Given the description of an element on the screen output the (x, y) to click on. 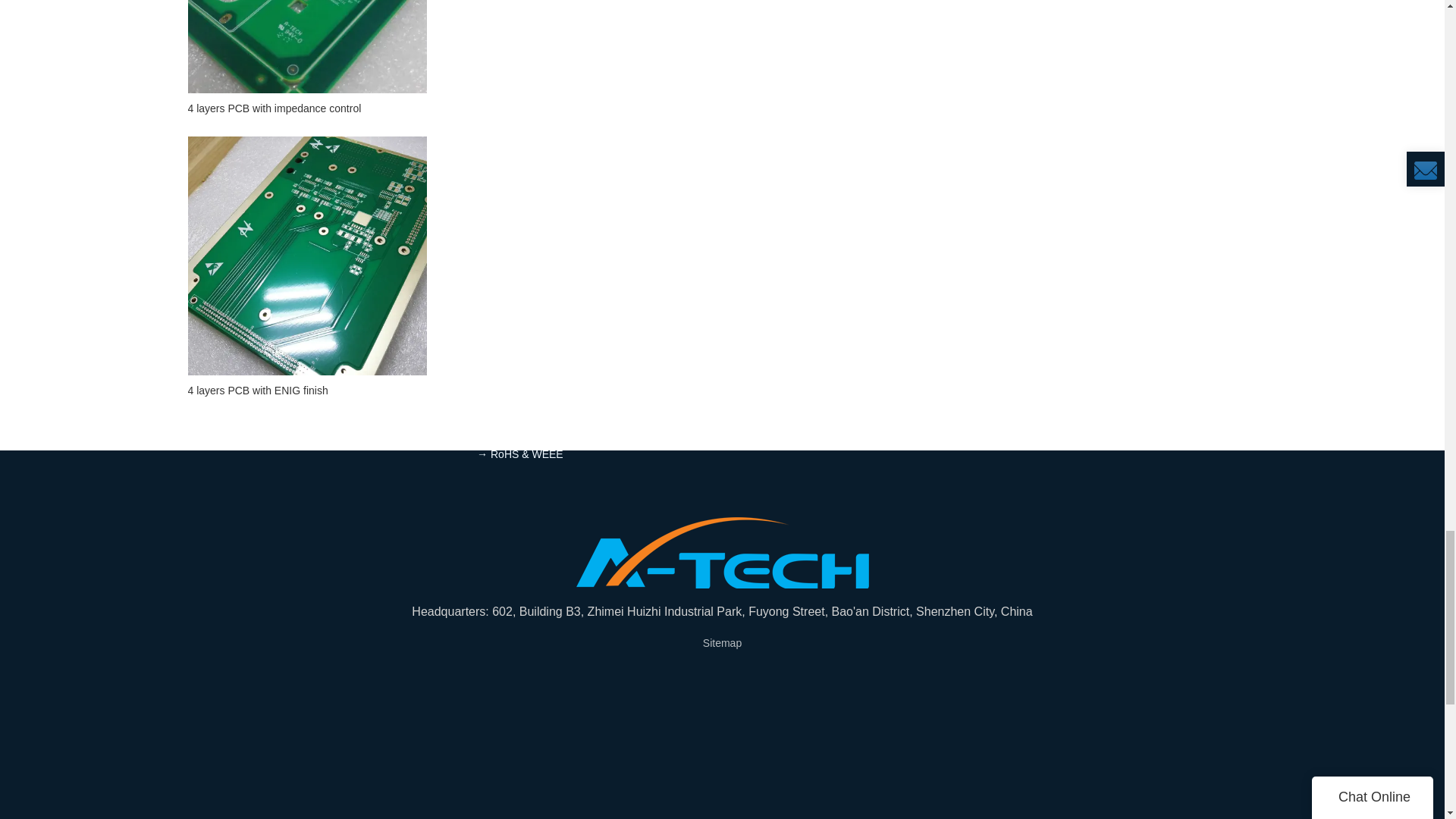
4 layers PCB with impedance control (306, 108)
4 layers PCB with ENIG finish (306, 390)
